Given the description of an element on the screen output the (x, y) to click on. 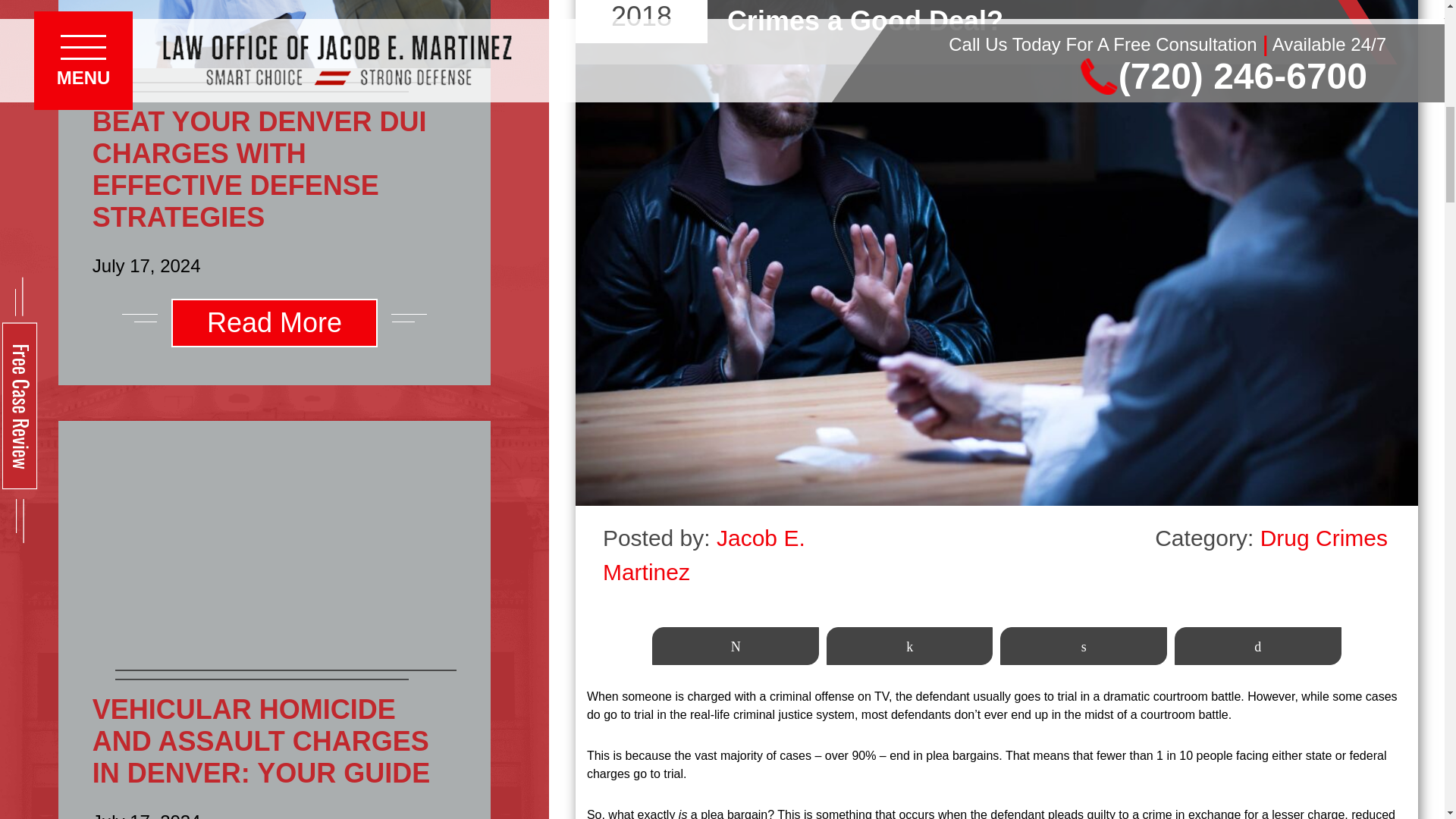
Vehicular Homicide and Assault Charges in Denver: Your Guide (274, 538)
